Given the description of an element on the screen output the (x, y) to click on. 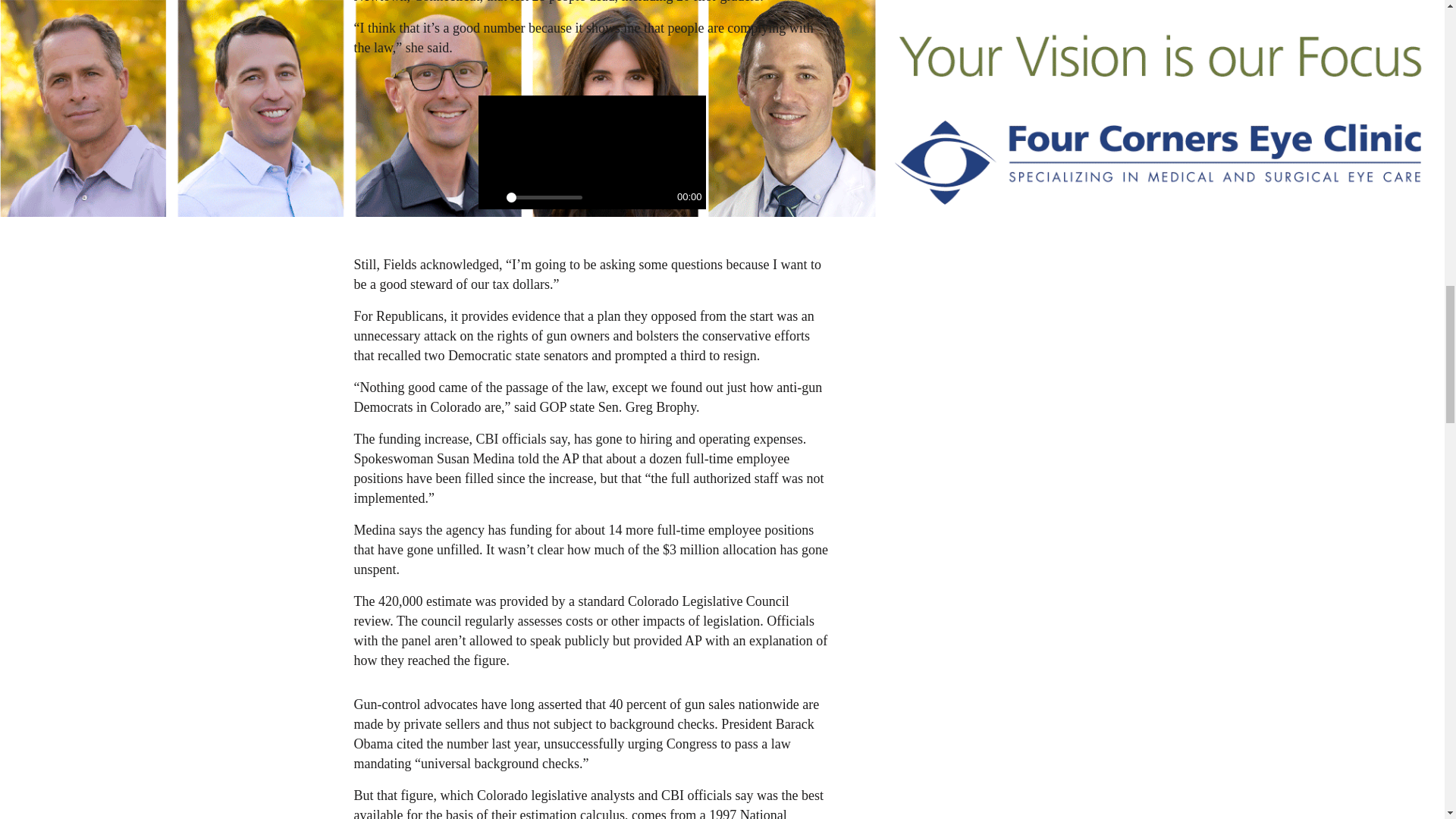
0 (544, 197)
